Given the description of an element on the screen output the (x, y) to click on. 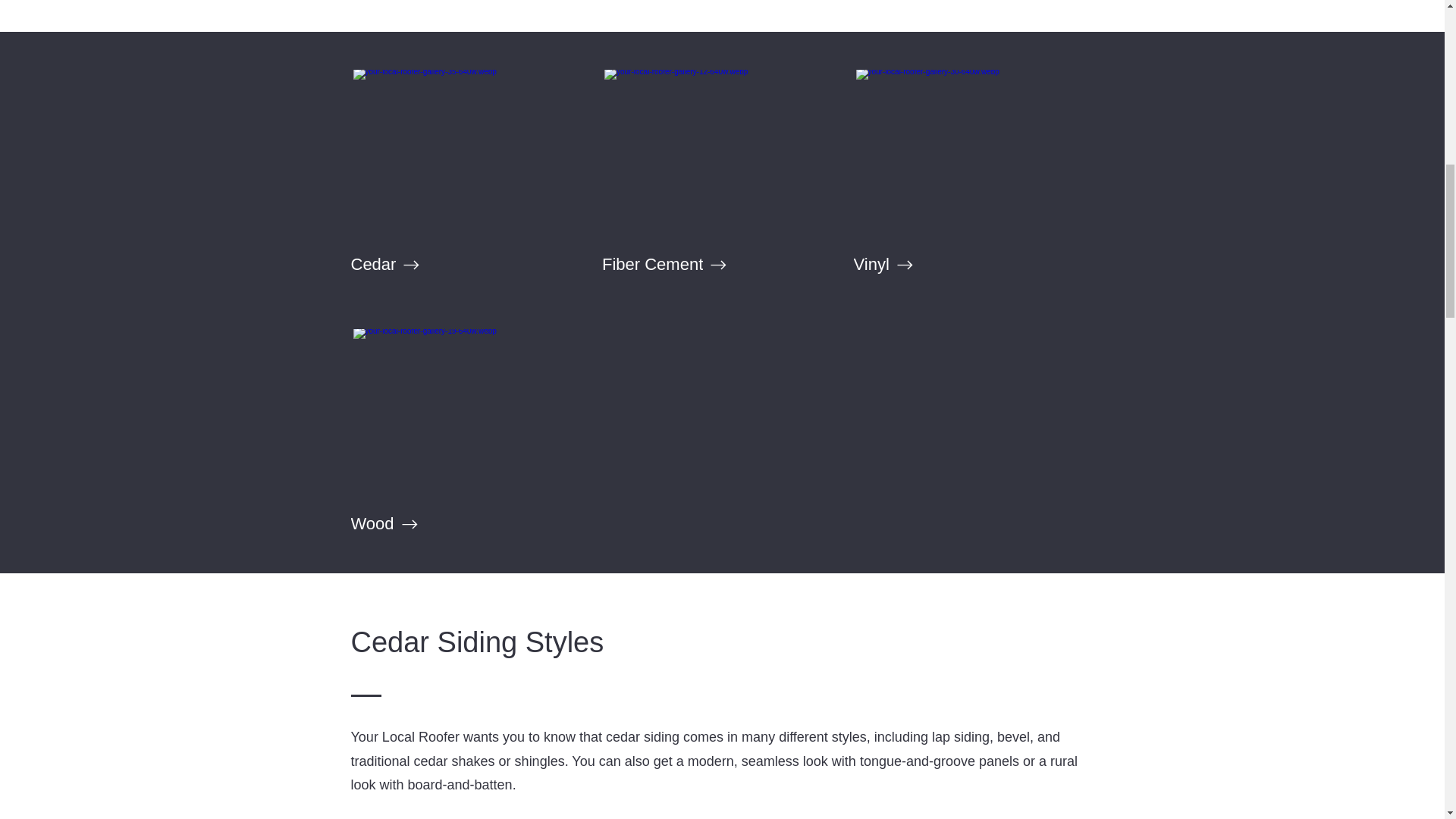
Fiber Cement (718, 264)
Wood (466, 523)
Vinyl (969, 264)
Cedar (466, 264)
